Given the description of an element on the screen output the (x, y) to click on. 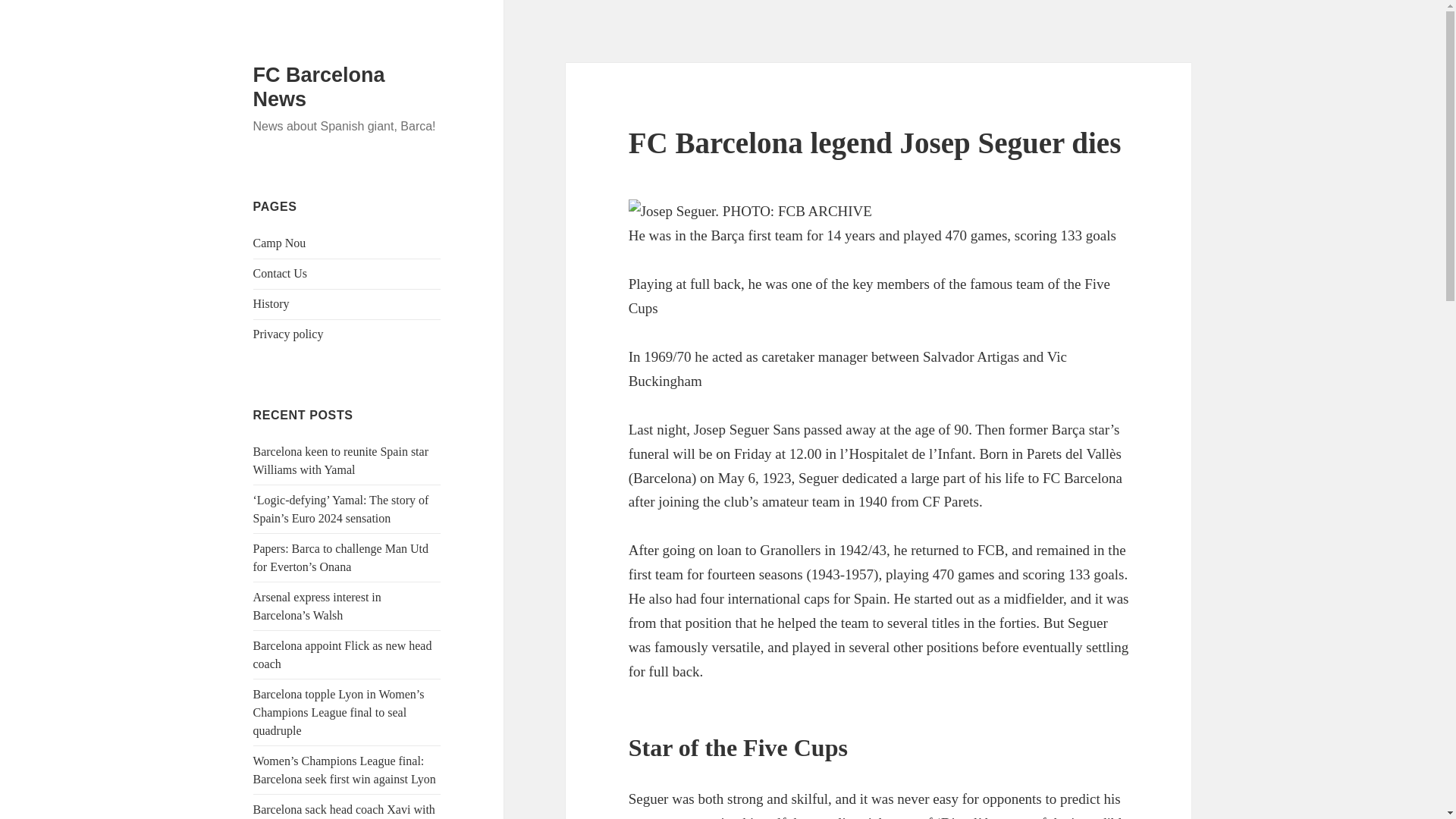
Privacy policy (288, 333)
Camp Nou (279, 242)
FC Barcelona News (319, 86)
Contact Us (280, 273)
Barcelona keen to reunite Spain star Williams with Yamal (340, 460)
Josep Seguer. PHOTO: FCB ARCHIVE (750, 211)
History (271, 303)
Barcelona appoint Flick as new head coach (342, 654)
